Given the description of an element on the screen output the (x, y) to click on. 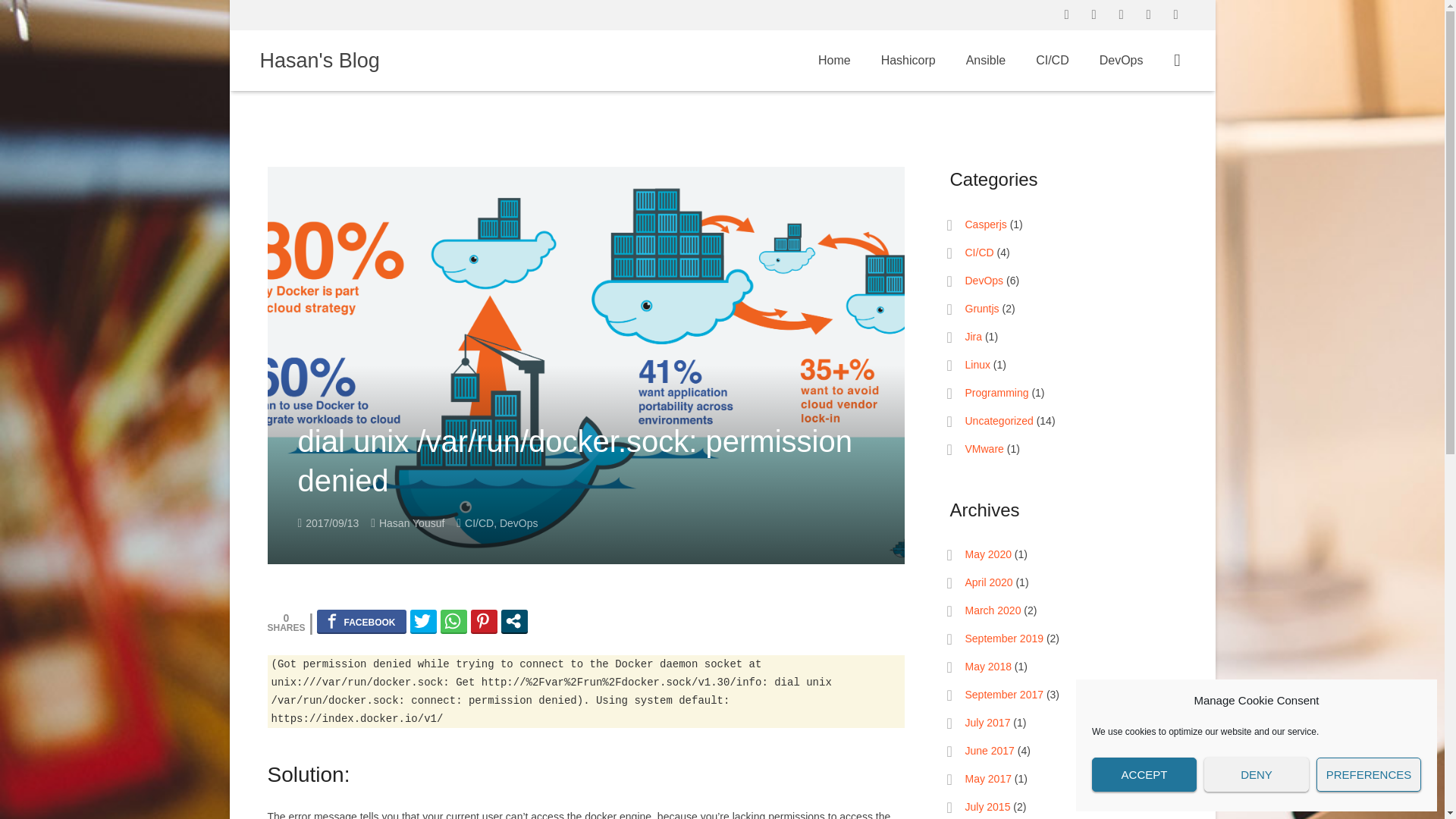
PREFERENCES (1368, 774)
Hashicorp (908, 60)
DevOps (518, 522)
Share on WhatsApp (454, 620)
Ansible (985, 60)
Share on Facebook (361, 620)
DevOps (1121, 60)
Open modal social networks (513, 620)
Tweet (423, 620)
Hasan's Blog (318, 60)
Home (834, 60)
Casperjs (984, 224)
DENY (1256, 774)
Share on Pinterest (483, 620)
ACCEPT (1144, 774)
